Given the description of an element on the screen output the (x, y) to click on. 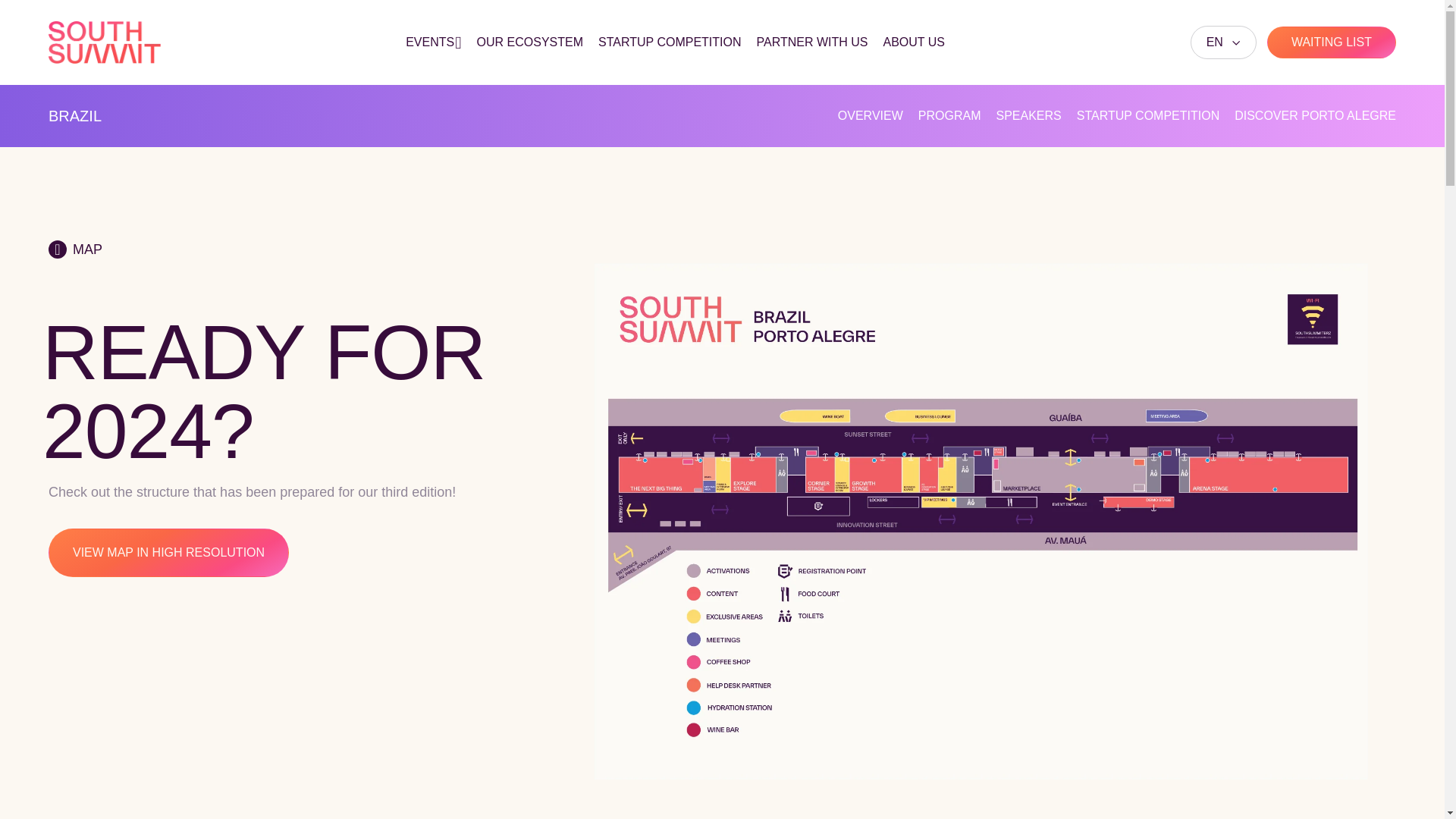
STARTUP COMPETITION (669, 42)
OUR ECOSYSTEM (530, 42)
PARTNER WITH US (812, 42)
ABOUT US (913, 42)
WAITING LIST (1331, 42)
South Summit (104, 42)
